Given the description of an element on the screen output the (x, y) to click on. 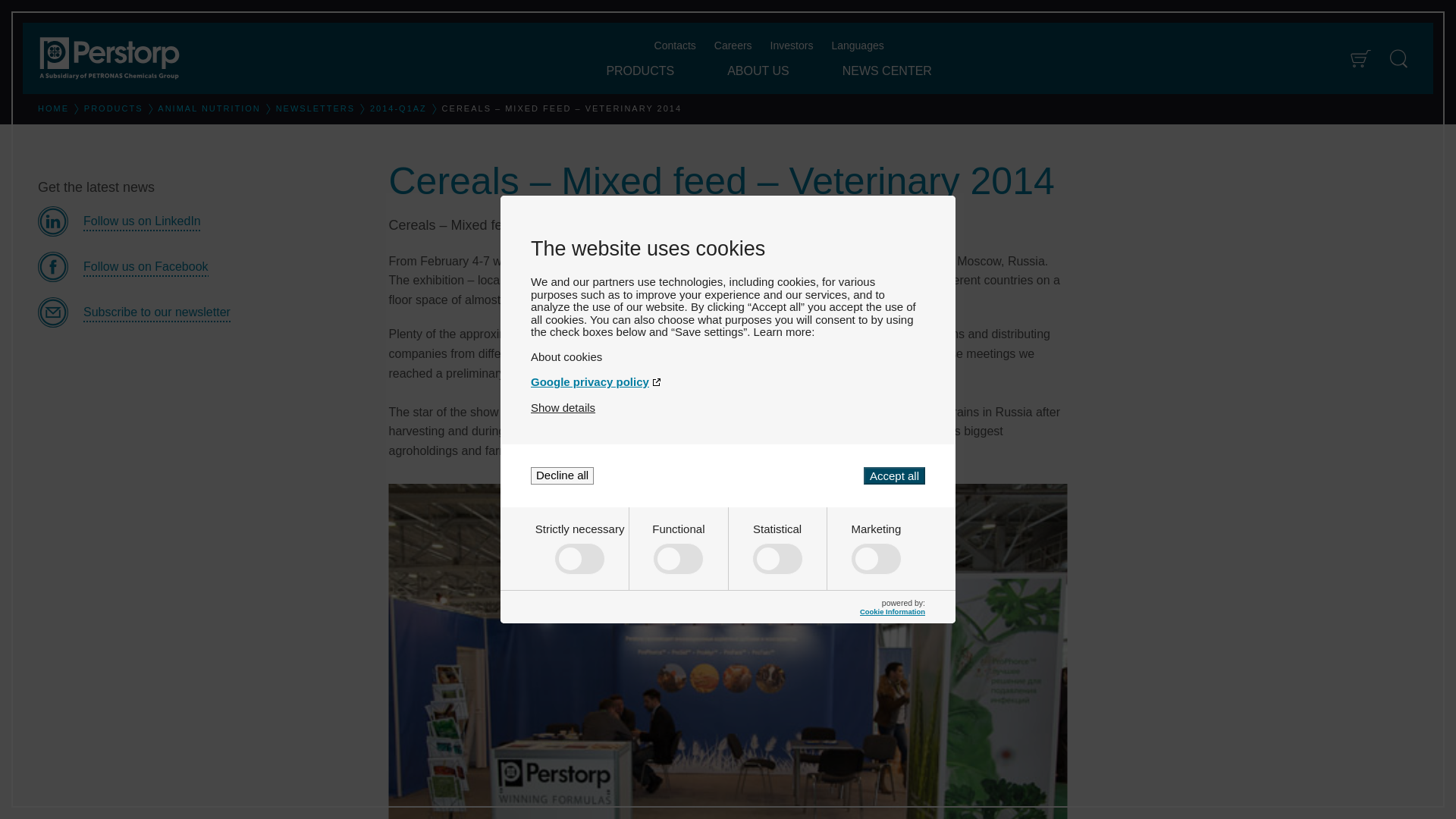
Show details (563, 407)
About cookies (727, 356)
LinkedIn (201, 221)
Google privacy policy (727, 381)
Decline all (562, 475)
Accept all (893, 475)
Facebook (201, 266)
Cookie Information (892, 611)
